Given the description of an element on the screen output the (x, y) to click on. 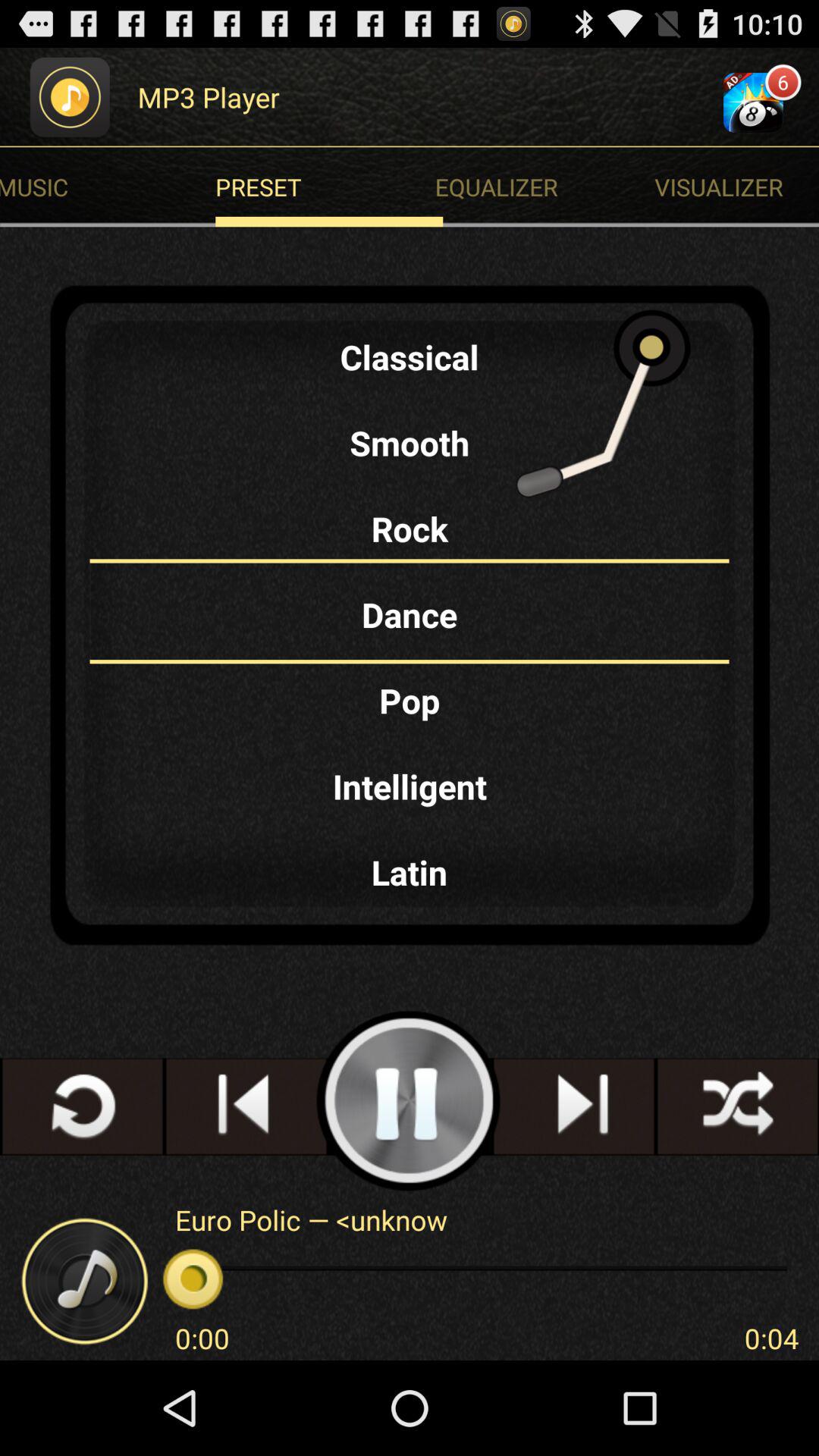
click item below mp3 player app (329, 186)
